Given the description of an element on the screen output the (x, y) to click on. 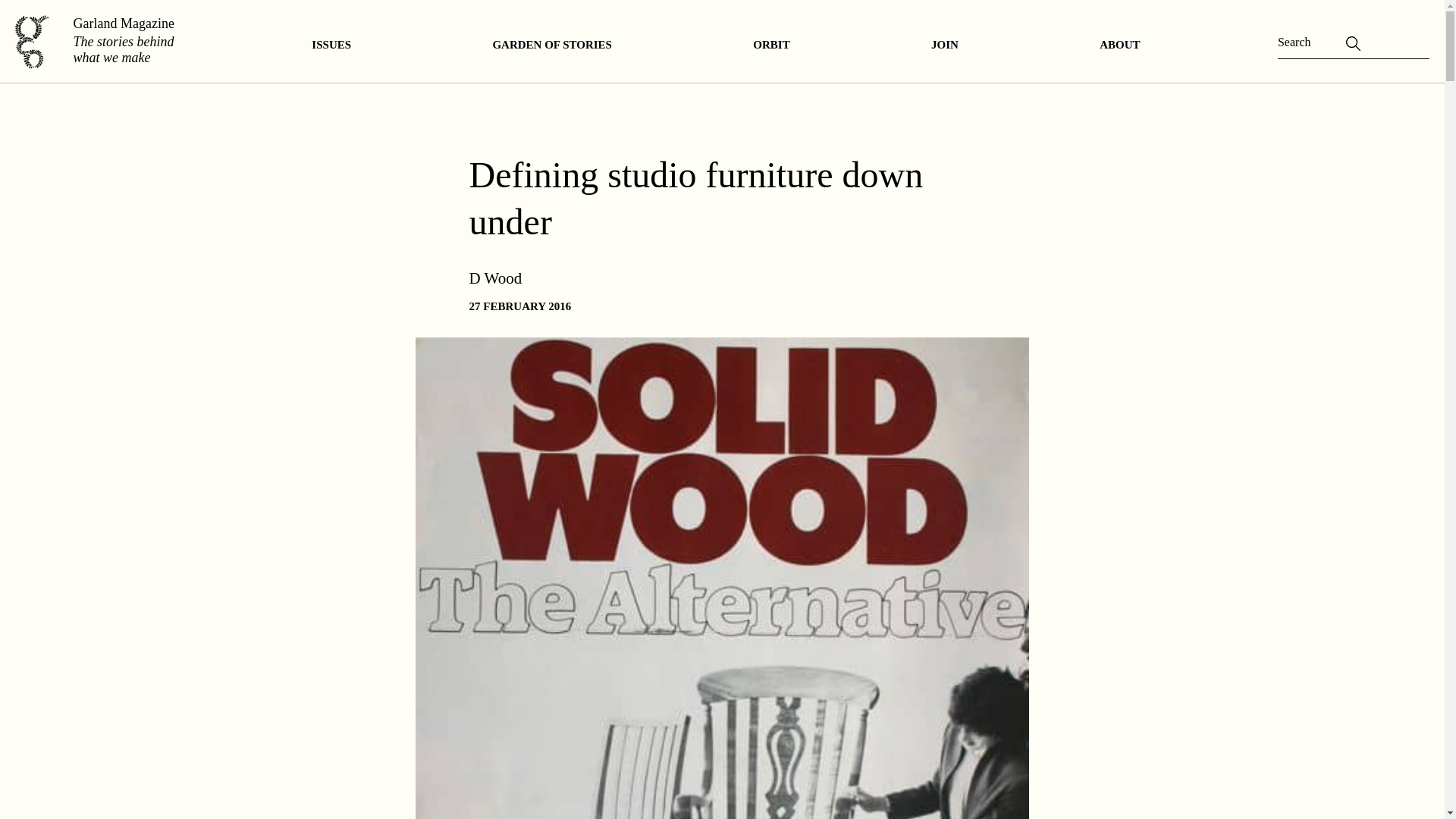
ORBIT (771, 44)
GARDEN OF STORIES (551, 44)
ISSUES (331, 44)
ABOUT (1119, 44)
Search (28, 15)
